Given the description of an element on the screen output the (x, y) to click on. 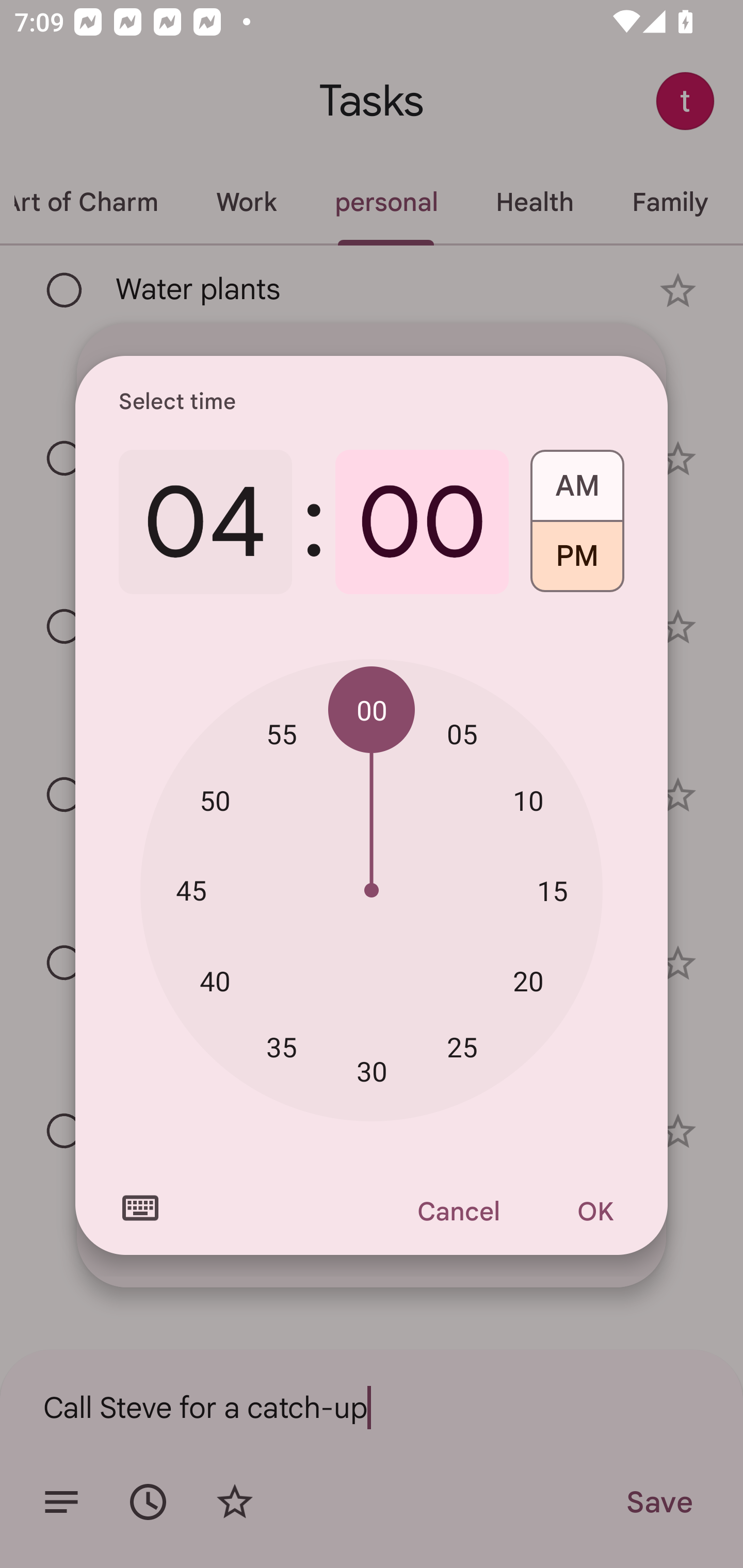
AM (577, 478)
04 4 o'clock (204, 522)
00 0 minutes (421, 522)
PM (577, 563)
00 00 minutes (371, 710)
55 55 minutes (281, 733)
05 05 minutes (462, 733)
50 50 minutes (214, 800)
10 10 minutes (528, 800)
45 45 minutes (190, 889)
15 15 minutes (551, 890)
40 40 minutes (214, 980)
20 20 minutes (528, 980)
35 35 minutes (281, 1046)
25 25 minutes (462, 1046)
30 30 minutes (371, 1071)
Switch to text input mode for the time input. (140, 1208)
Cancel (458, 1211)
OK (595, 1211)
